Given the description of an element on the screen output the (x, y) to click on. 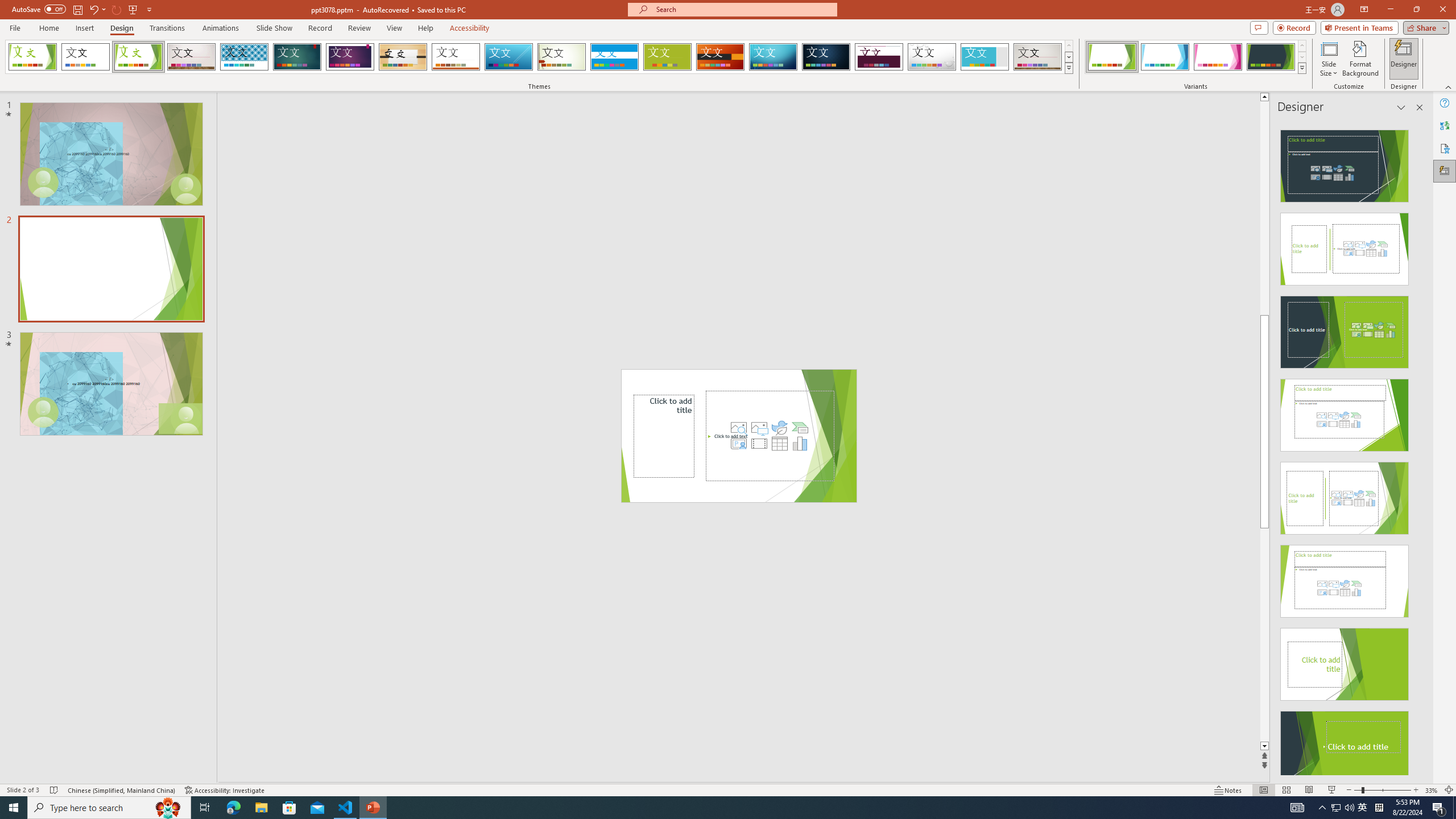
Dividend (879, 56)
AutomationID: ThemeVariantsGallery (1195, 56)
Insert an Icon (779, 427)
Damask (826, 56)
Integral (244, 56)
